Given the description of an element on the screen output the (x, y) to click on. 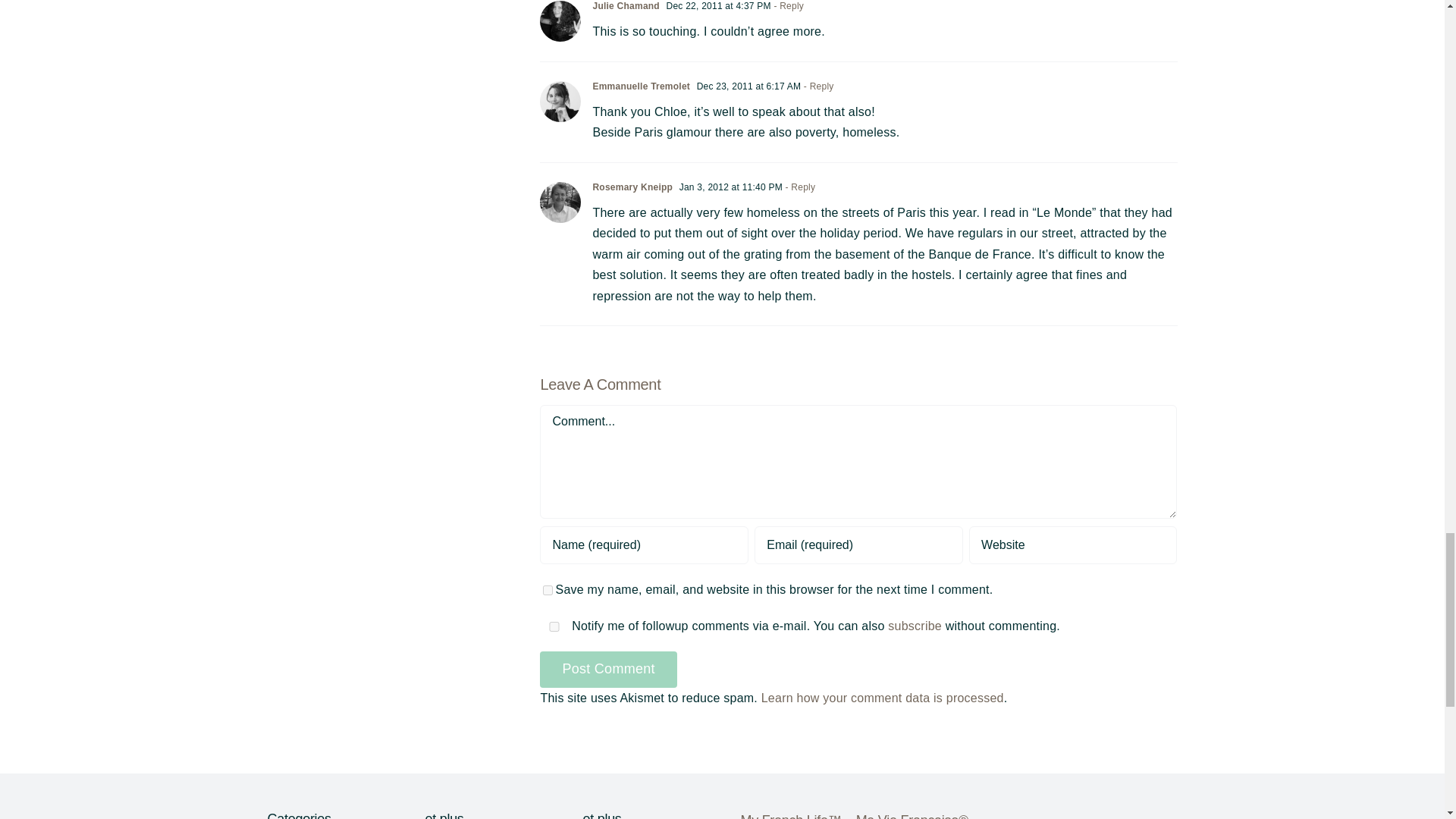
yes (554, 626)
yes (548, 590)
Post Comment (608, 669)
